Given the description of an element on the screen output the (x, y) to click on. 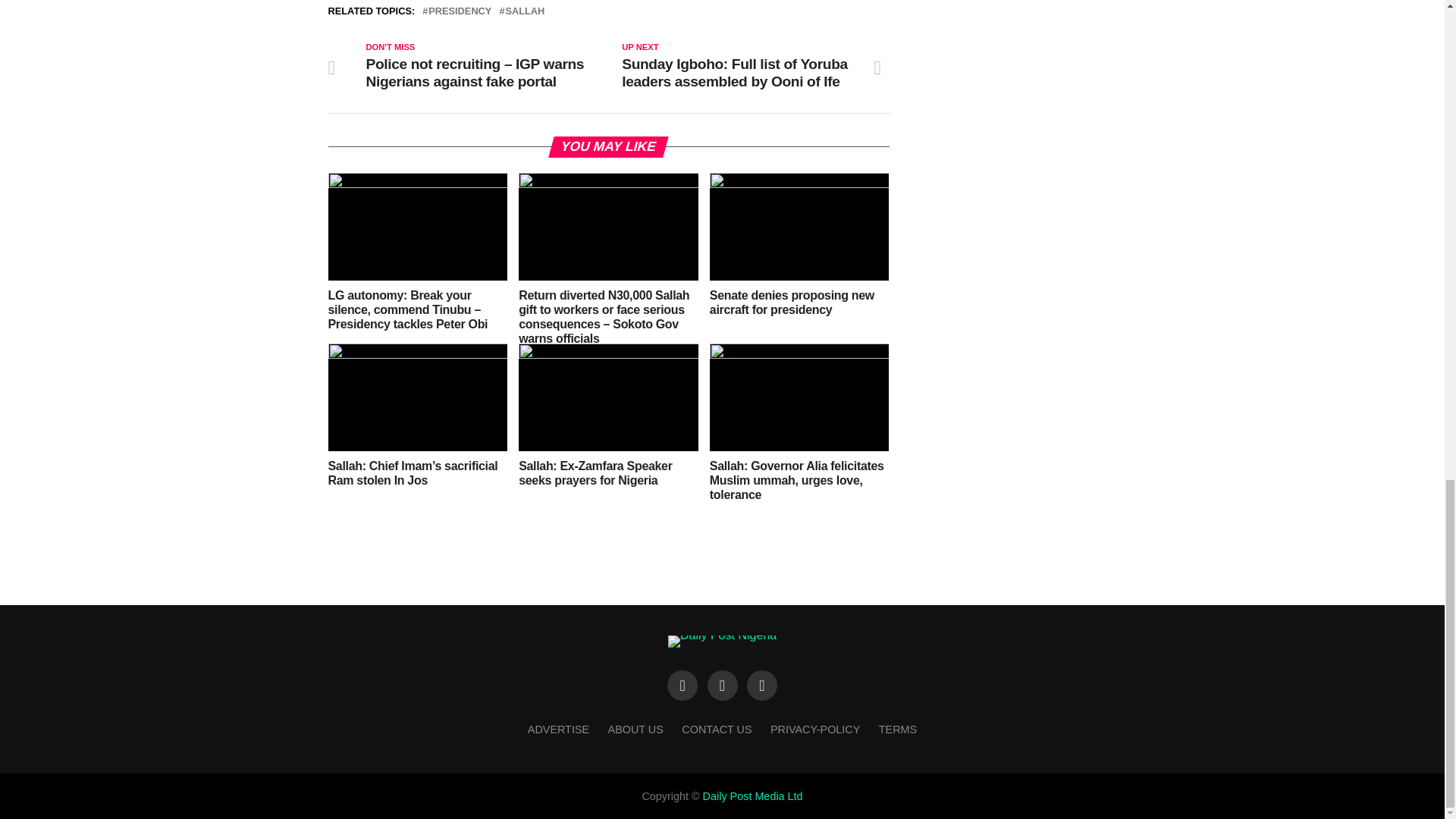
ADVERTISE (558, 729)
SALLAH (524, 11)
ABOUT US (635, 729)
PRESIDENCY (460, 11)
